Given the description of an element on the screen output the (x, y) to click on. 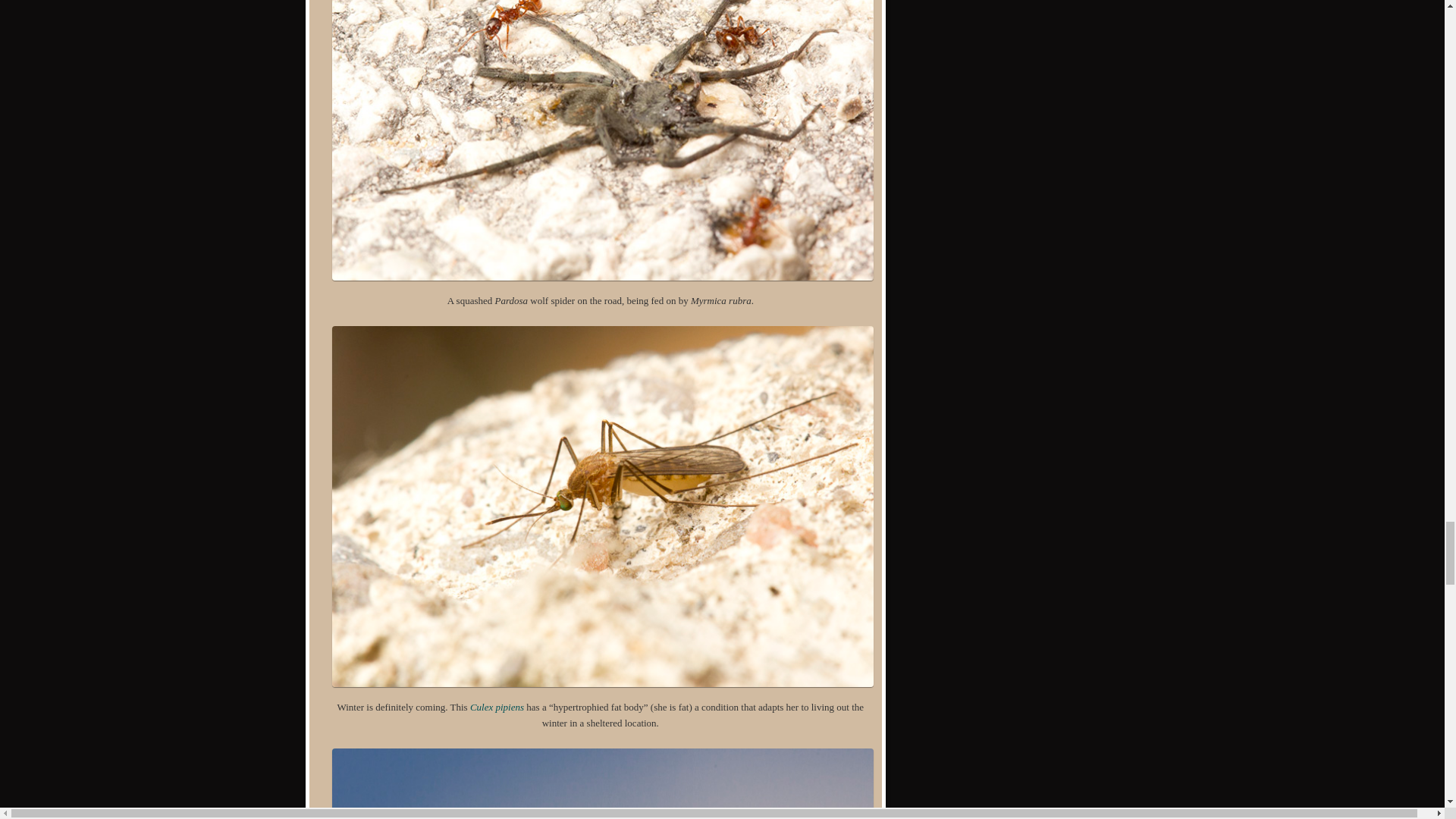
Culex pipiens (497, 706)
